Given the description of an element on the screen output the (x, y) to click on. 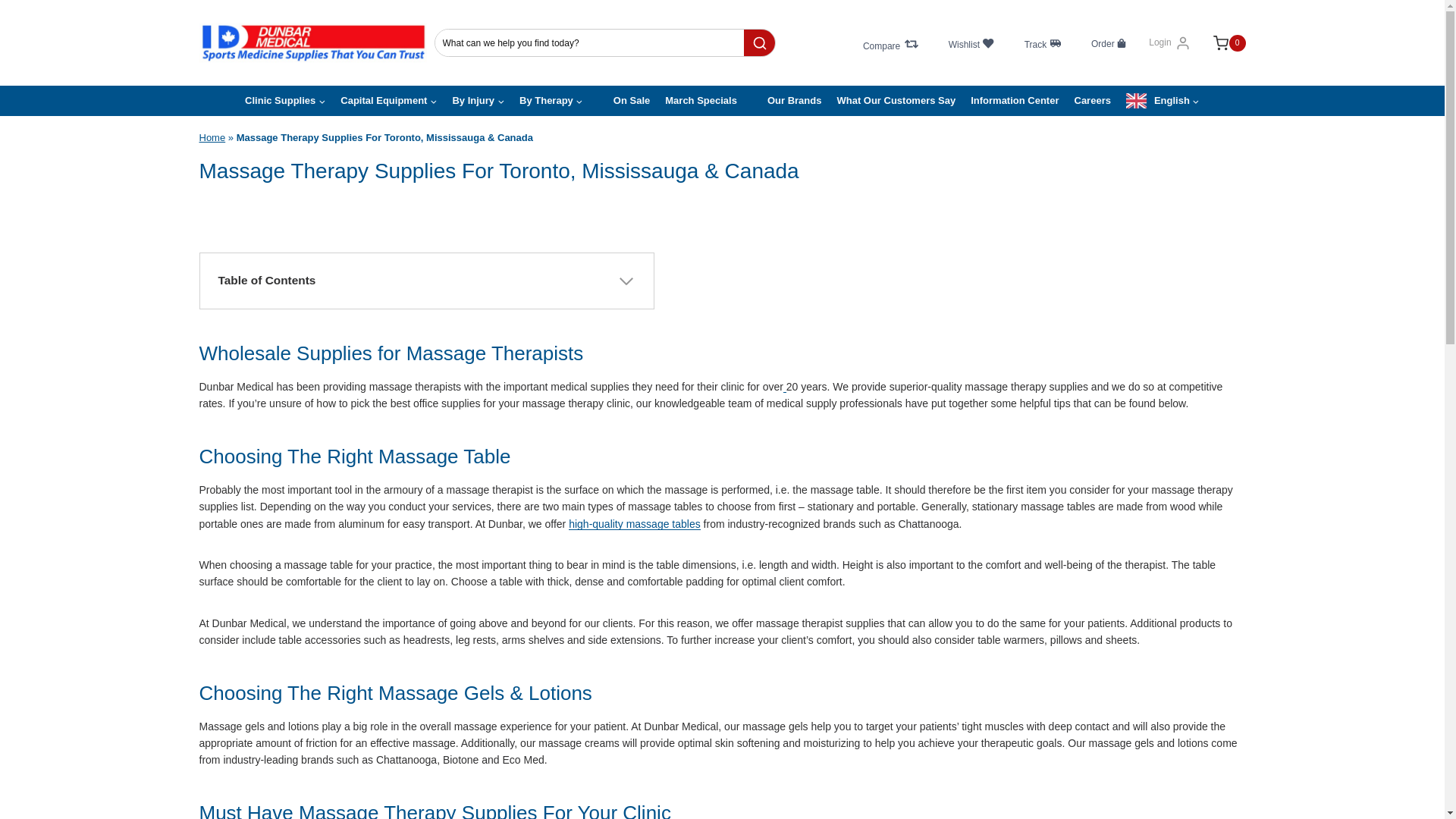
What can we help you find today? (589, 42)
What can we help you find today? (589, 42)
Table of Contents (721, 280)
Clinic Supplies (285, 100)
Wishlist (971, 42)
Login (1168, 42)
Compare (890, 43)
English (1162, 100)
0 (1222, 43)
Order (1108, 42)
Track (1042, 42)
